Given the description of an element on the screen output the (x, y) to click on. 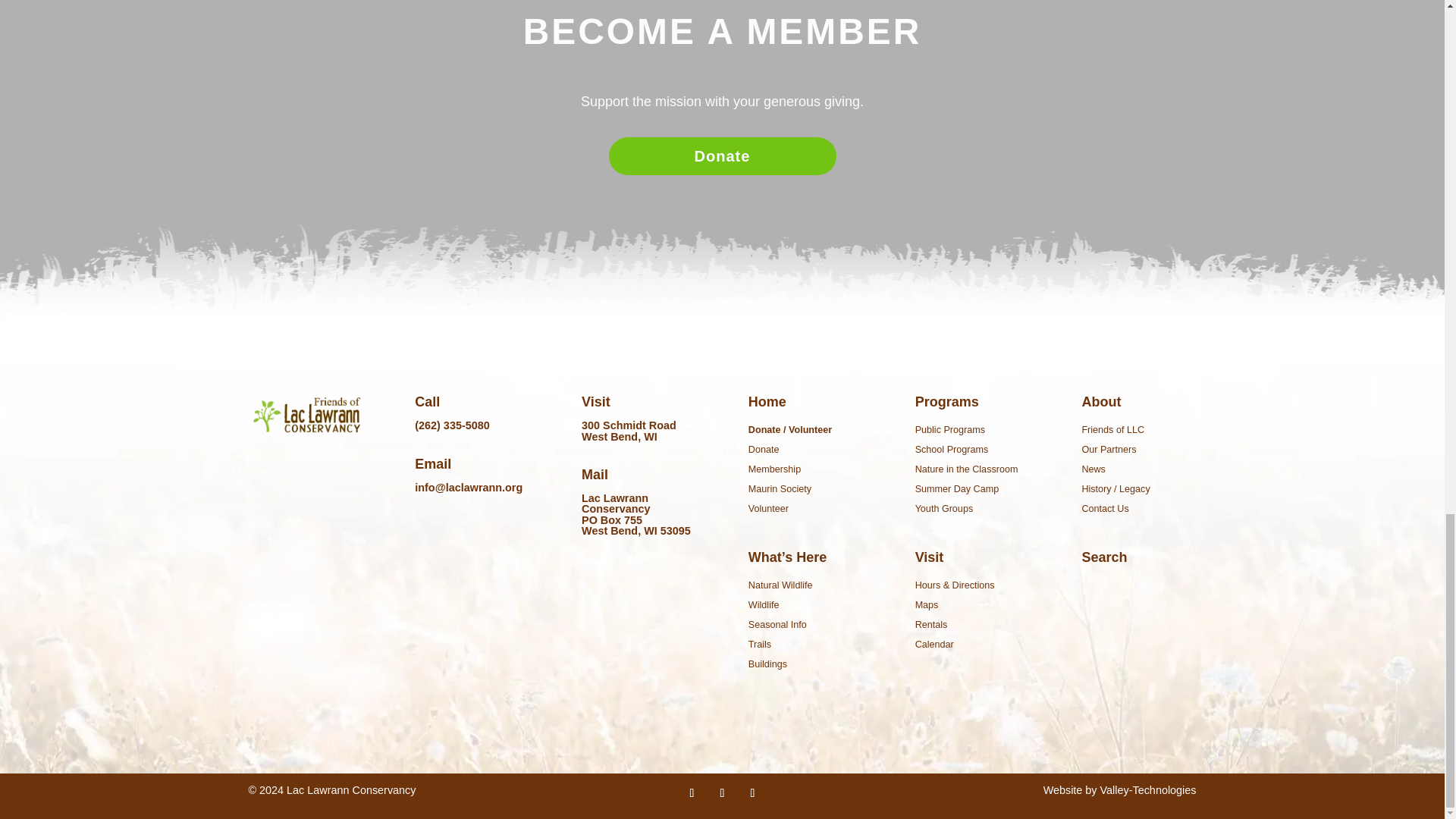
Follow on Facebook (691, 793)
Follow on X (721, 793)
Follow on Instagram (751, 793)
